Given the description of an element on the screen output the (x, y) to click on. 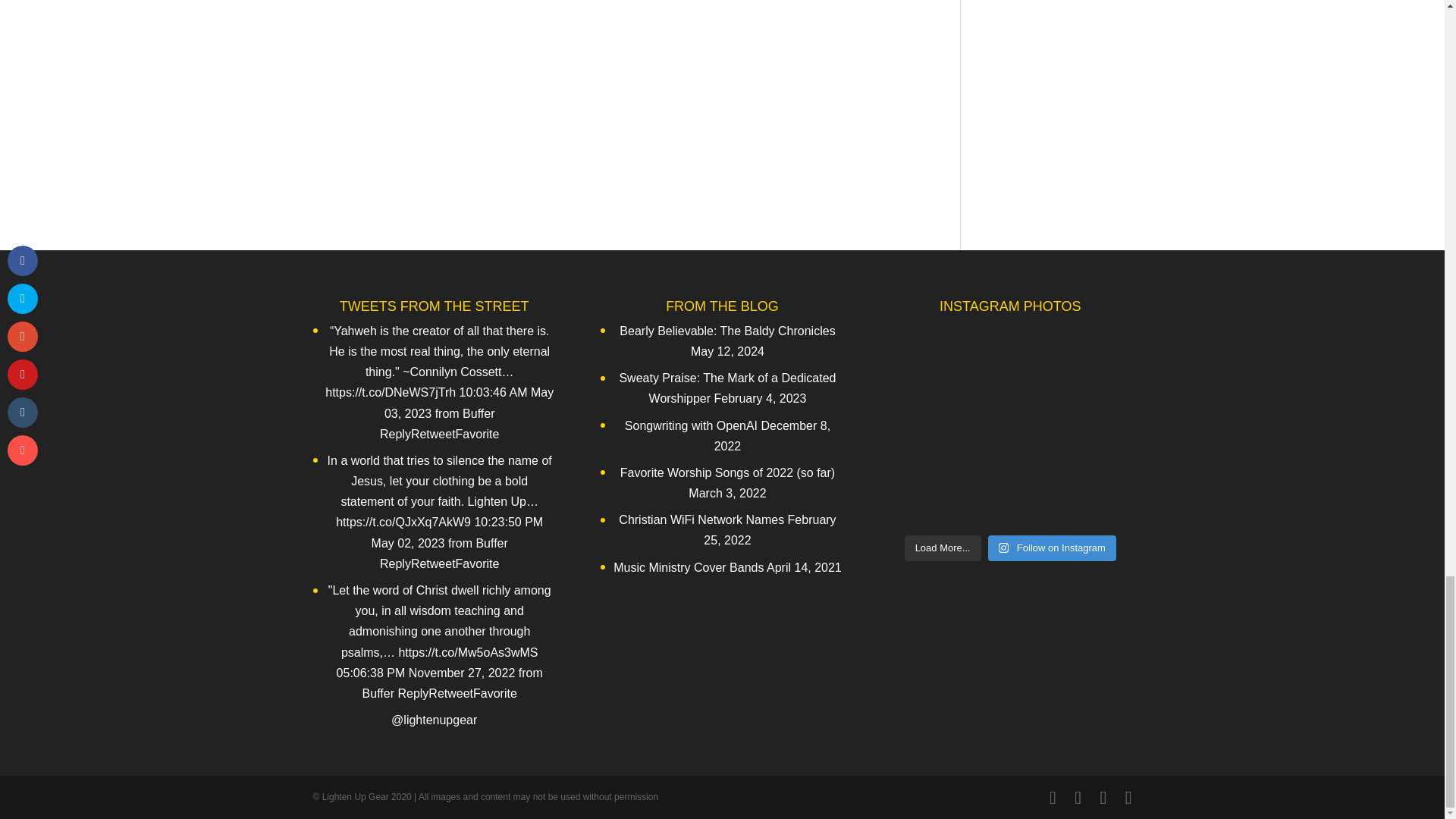
10:23:50 PM May 02, 2023 (457, 531)
Reply (395, 433)
Comment Form (614, 62)
Retweet (432, 433)
Buffer (479, 413)
Reply (395, 433)
Favorite (477, 433)
10:03:46 AM May 03, 2023 (468, 402)
